Given the description of an element on the screen output the (x, y) to click on. 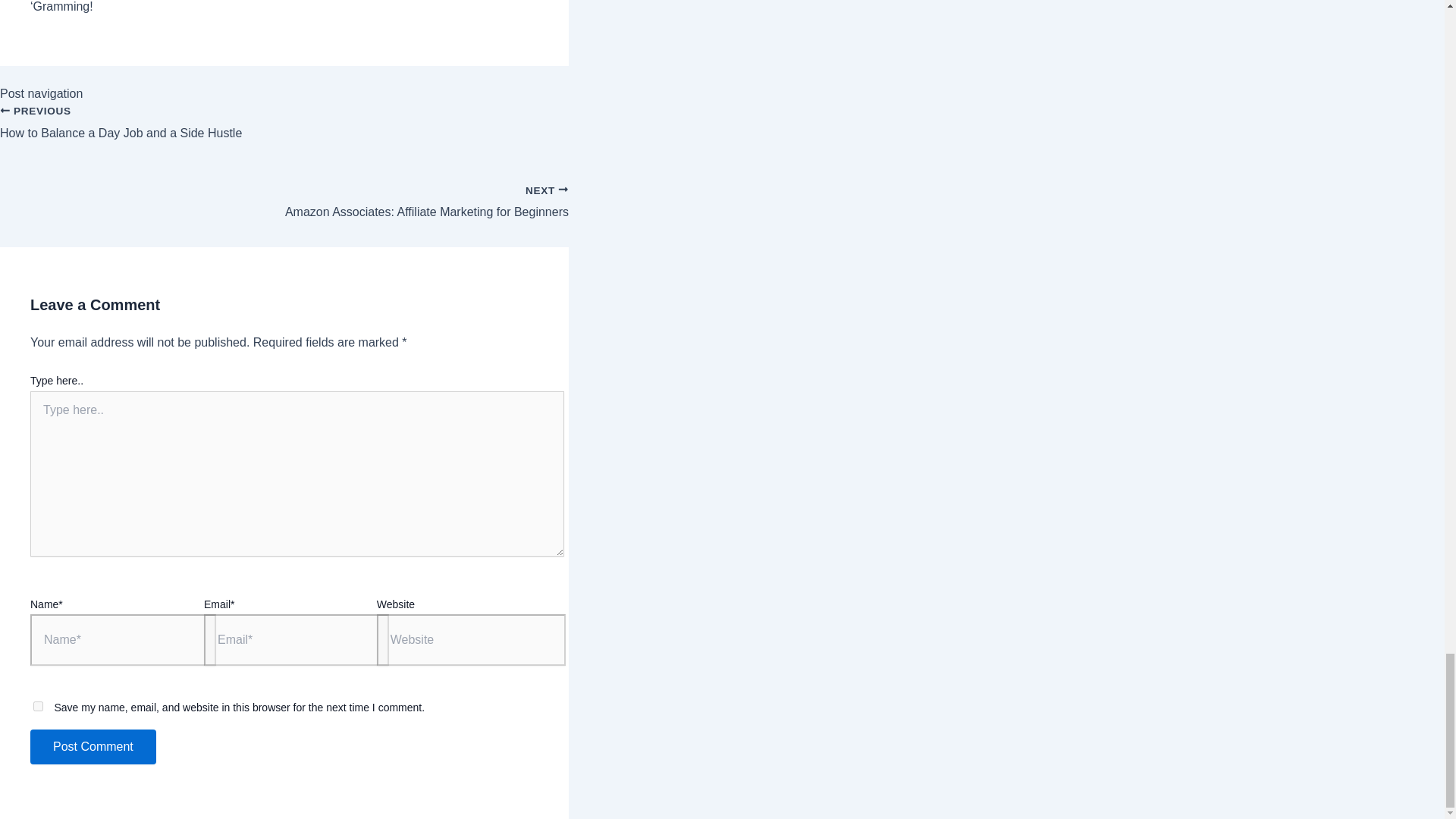
yes (38, 706)
Post Comment (284, 131)
Post Comment (284, 193)
How to Balance a Day Job and a Side Hustle (92, 746)
Amazon Associates: Affiliate Marketing for Beginners (92, 746)
